Given the description of an element on the screen output the (x, y) to click on. 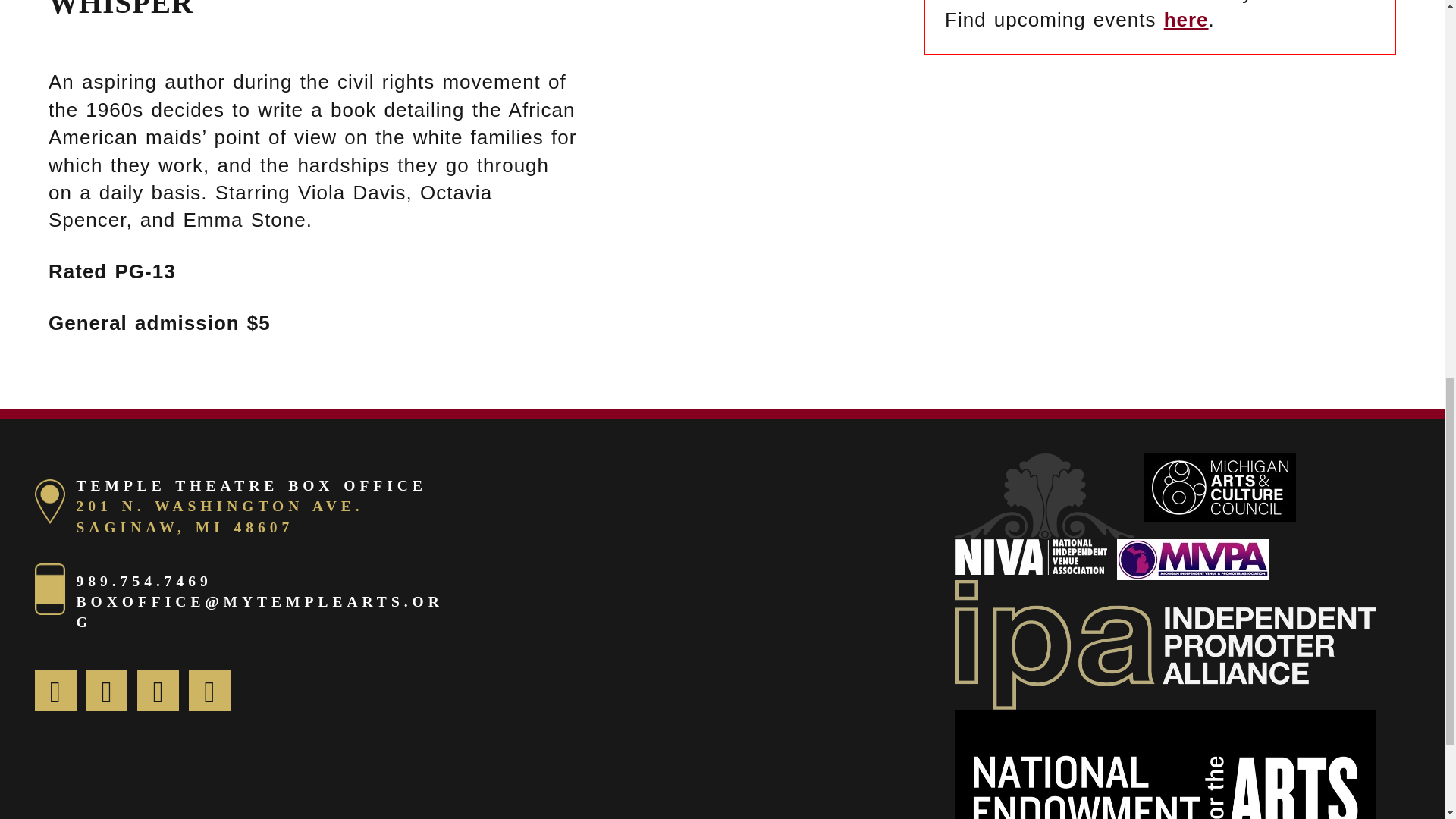
here (1185, 19)
